Given the description of an element on the screen output the (x, y) to click on. 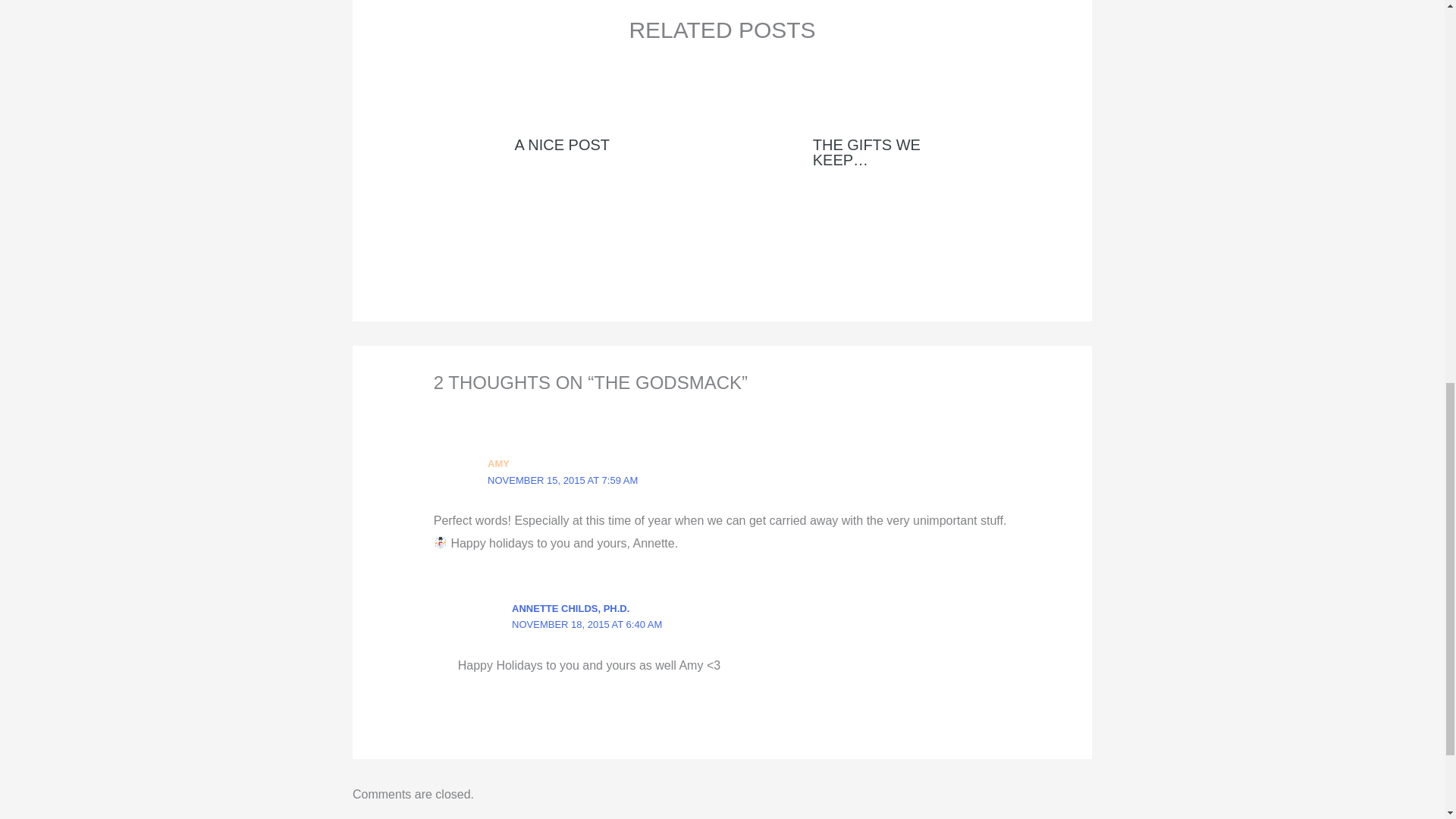
NOVEMBER 15, 2015 AT 7:59 AM (562, 480)
NOVEMBER 18, 2015 AT 6:40 AM (587, 624)
ANNETTE CHILDS, PH.D. (570, 608)
A NICE POST (561, 144)
